Given the description of an element on the screen output the (x, y) to click on. 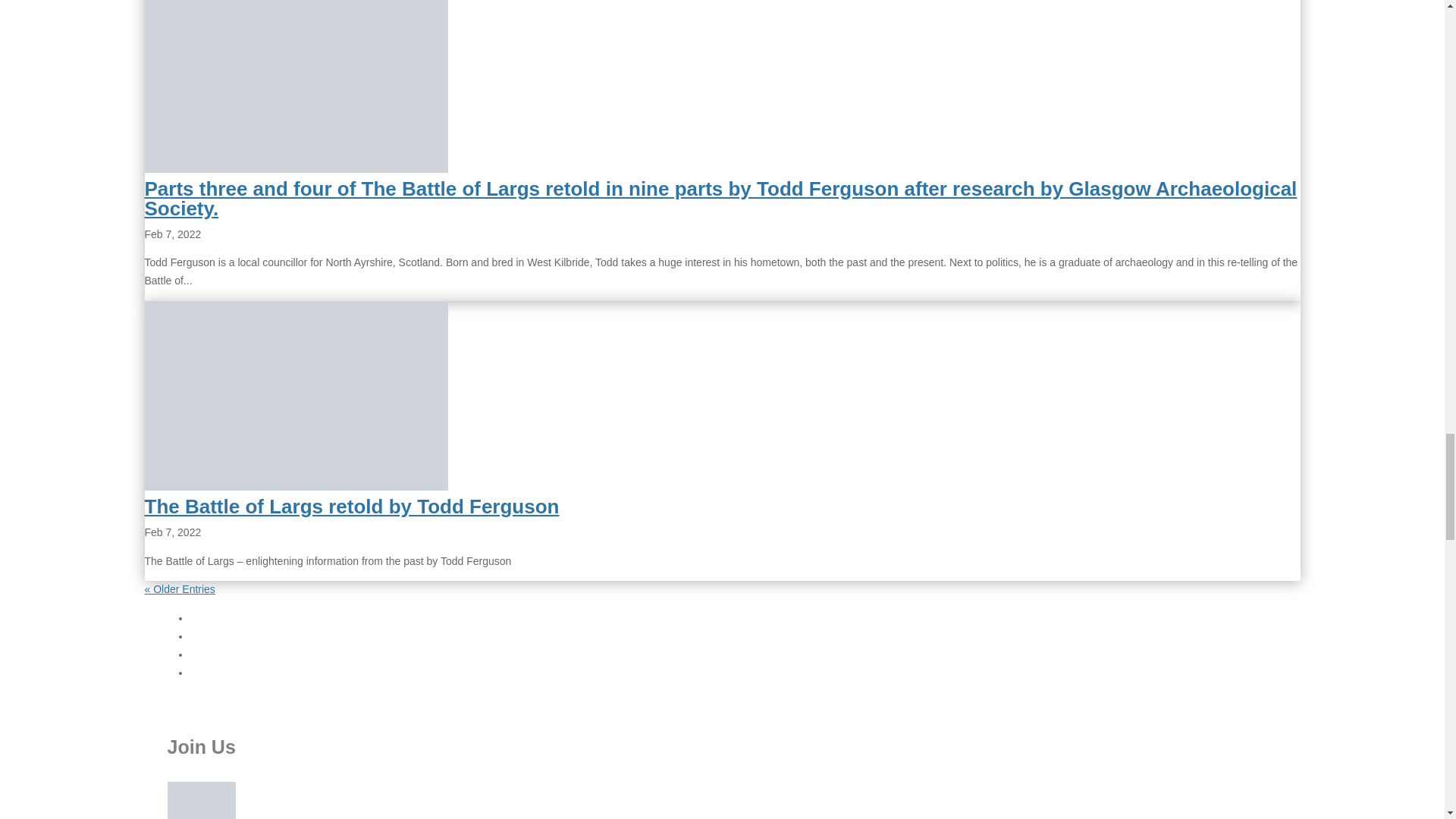
Join Us (201, 800)
